Given the description of an element on the screen output the (x, y) to click on. 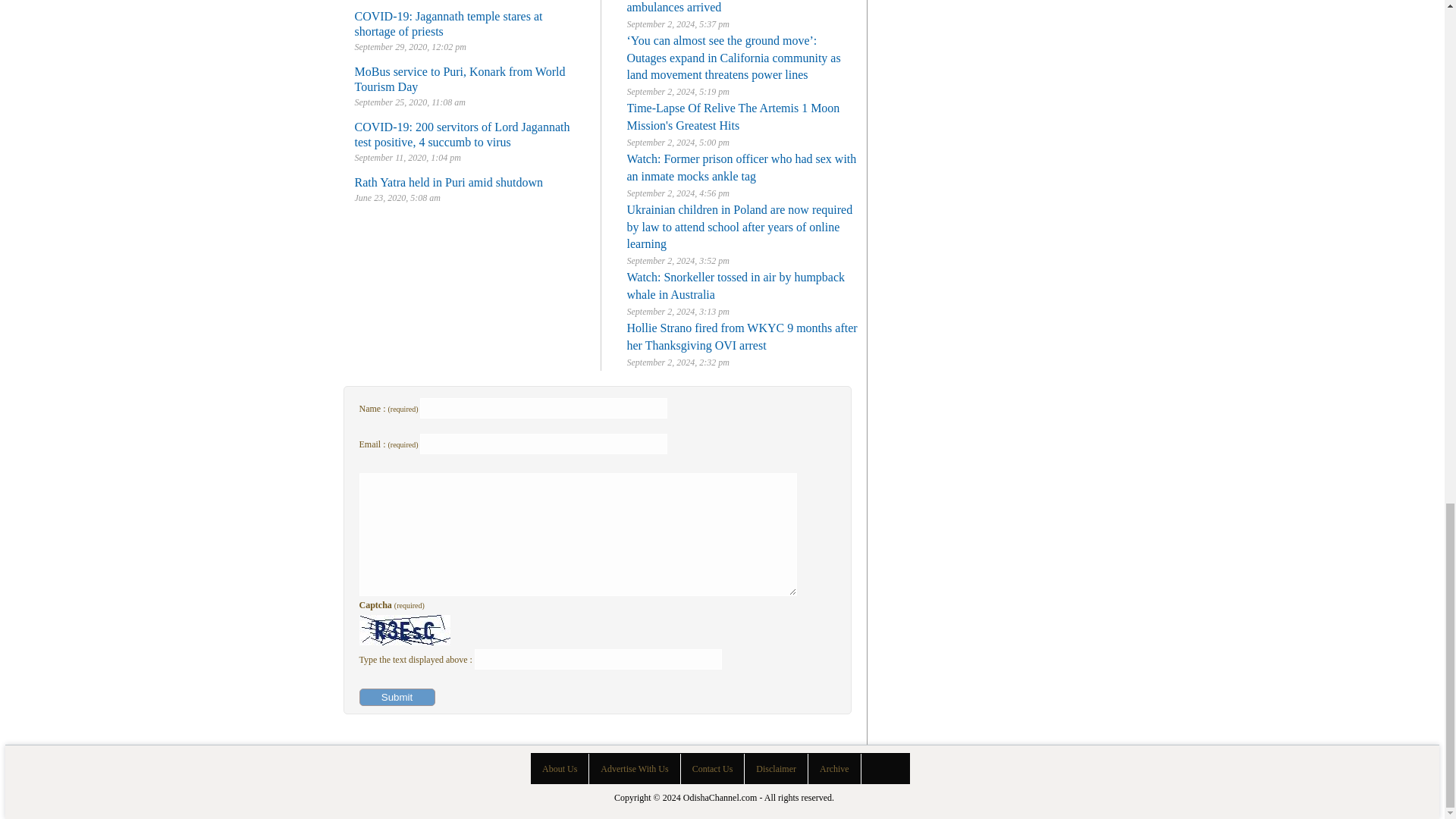
MoBus service to Puri, Konark from World Tourism Day (460, 79)
Submit (397, 696)
COVID-19: Jagannath temple stares at shortage of priests (449, 23)
Rath Yatra held in Puri amid shutdown (449, 182)
Submit (397, 696)
